Given the description of an element on the screen output the (x, y) to click on. 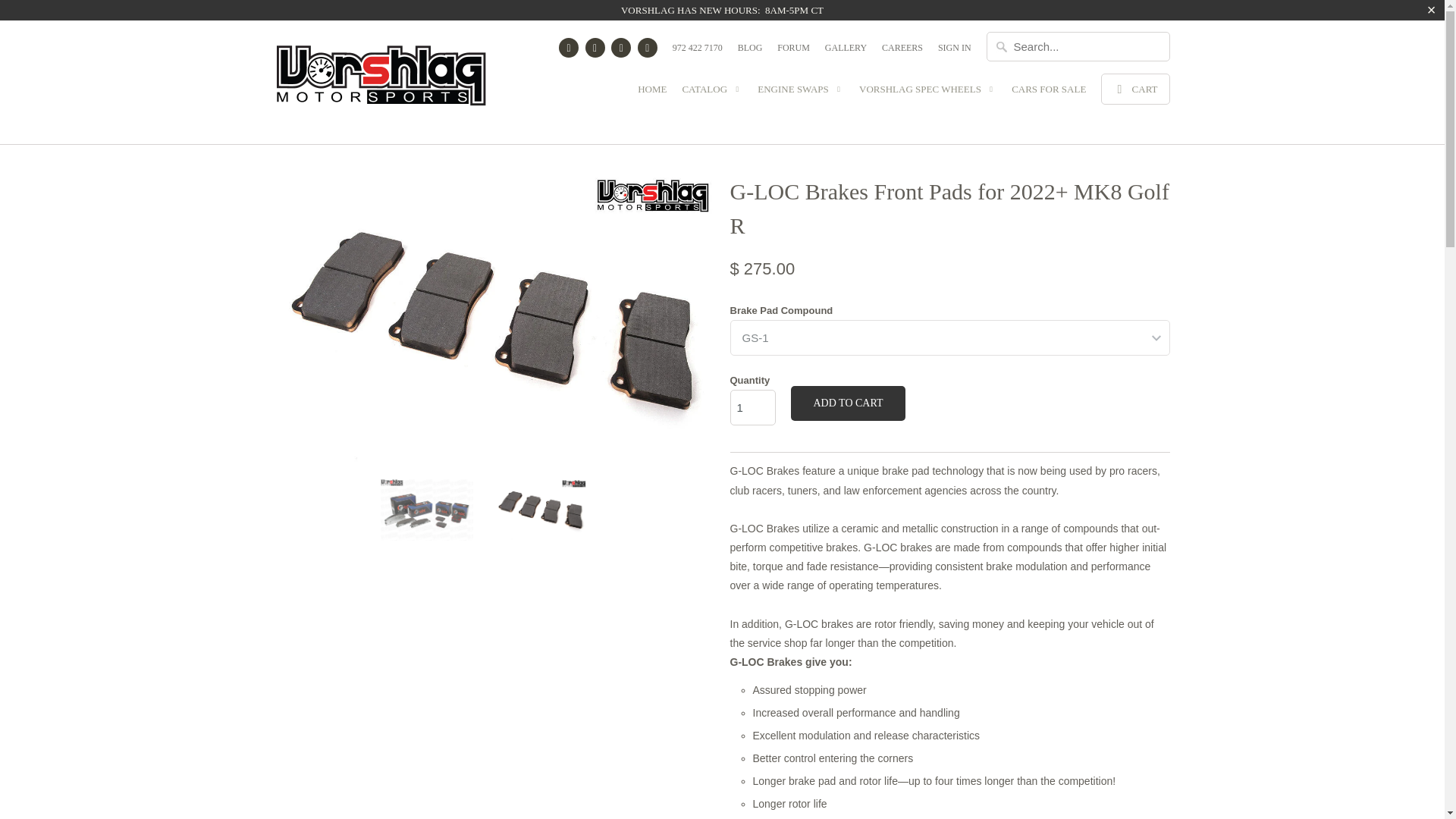
BLOG (750, 51)
Vorshlag on YouTube (595, 47)
HOME (651, 93)
Vorshlag on Instagram (620, 47)
Careers  (902, 51)
Cart (1134, 88)
1 (751, 407)
GALLERY (845, 51)
Vorshlag (380, 81)
SIGN IN (954, 51)
972 422 7170 (697, 51)
FORUM (793, 51)
Vorshlag on Facebook (568, 47)
Forum (793, 51)
Blog (750, 51)
